Given the description of an element on the screen output the (x, y) to click on. 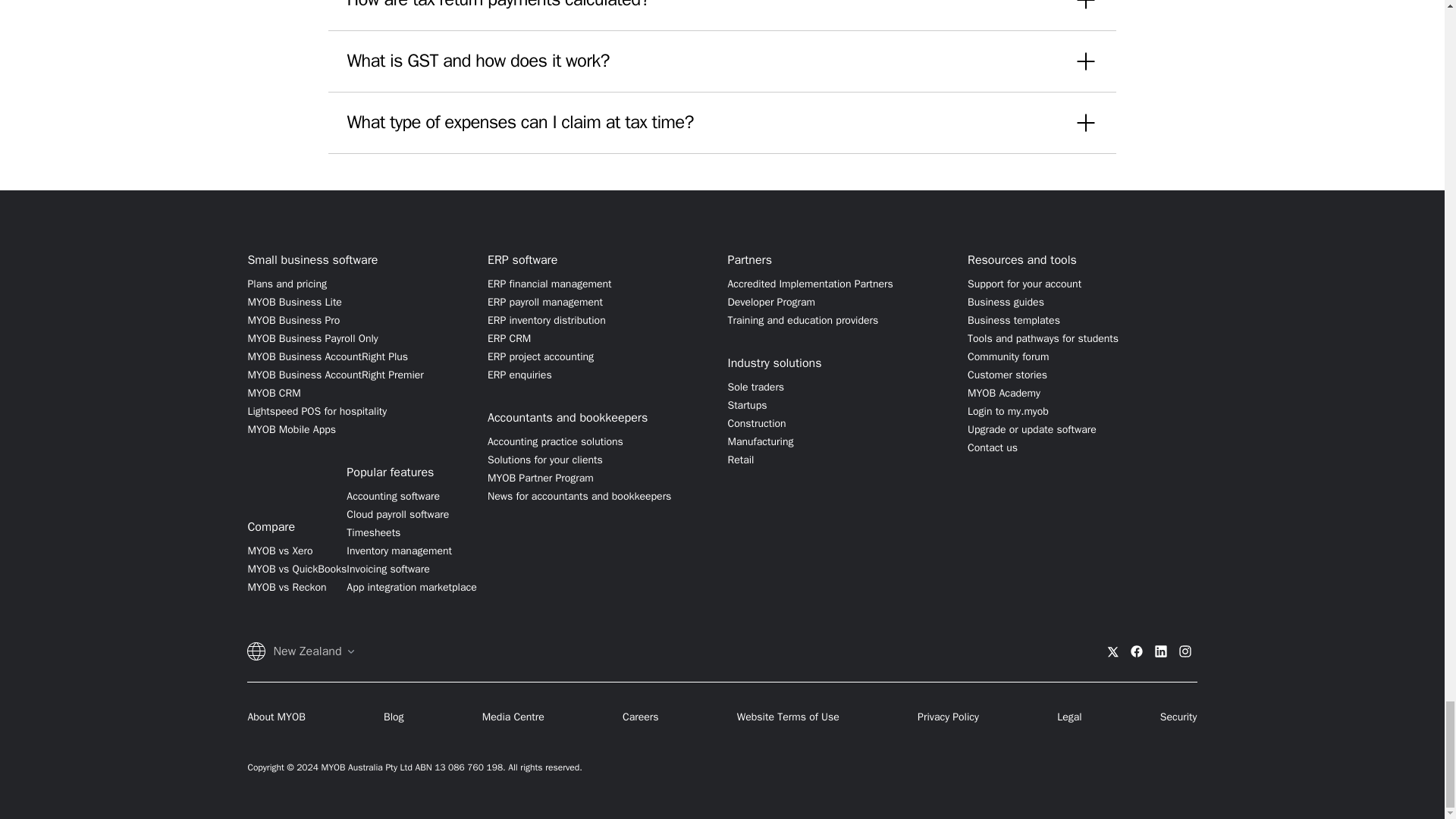
Legal (1069, 716)
Instagram (1185, 651)
Facebook (1136, 651)
Security (1178, 716)
Careers (641, 716)
About MYOB (275, 716)
Blog (394, 716)
Media Centre (512, 716)
LinkedIn (1160, 651)
Privacy Policy (947, 716)
Website Terms of Use (788, 716)
Twitter (1112, 651)
